Given the description of an element on the screen output the (x, y) to click on. 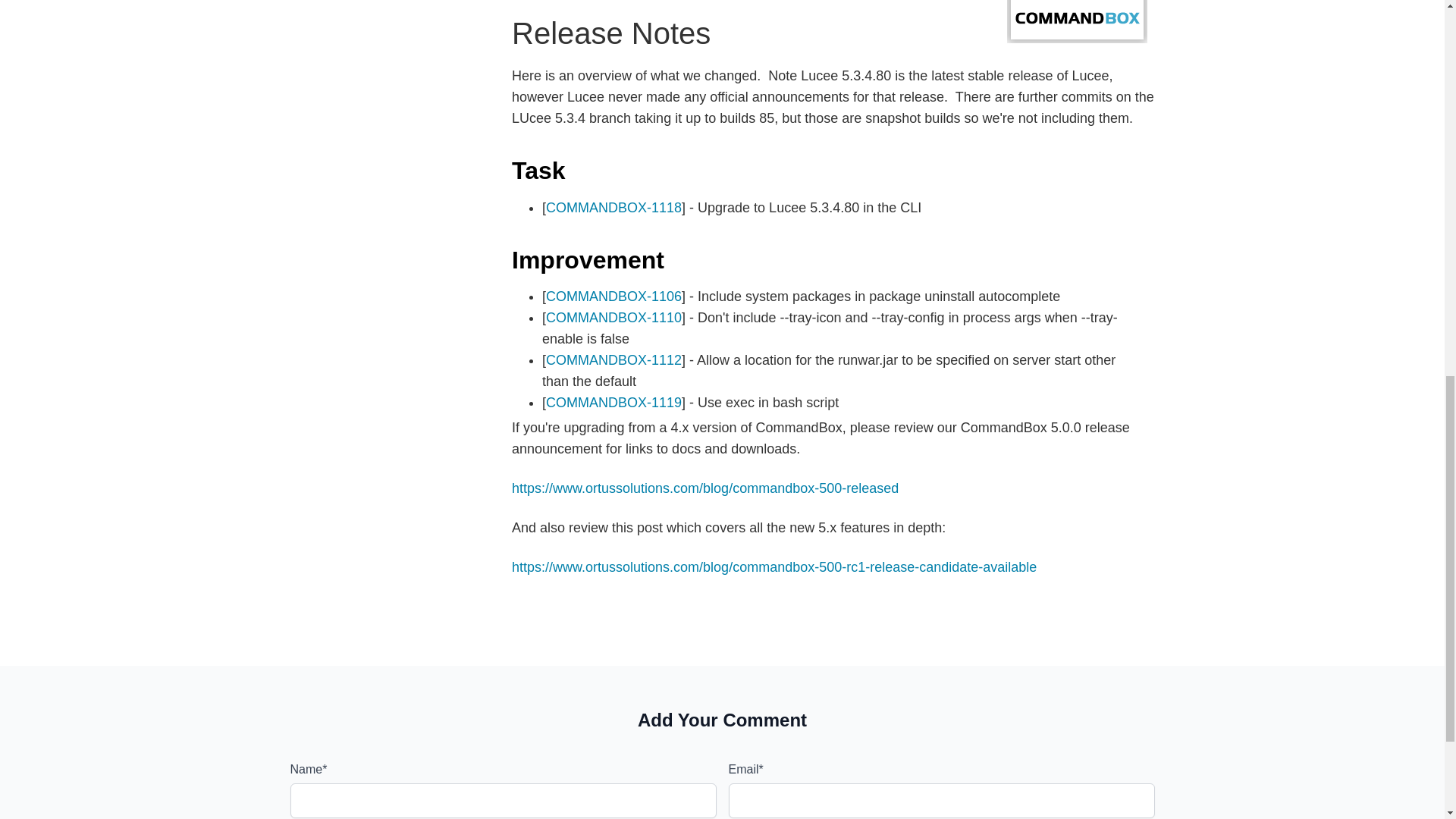
COMMANDBOX-1118 (613, 207)
COMMANDBOX-1110 (613, 317)
COMMANDBOX-1106 (613, 296)
COMMANDBOX-1119 (613, 402)
COMMANDBOX-1112 (613, 359)
